Given the description of an element on the screen output the (x, y) to click on. 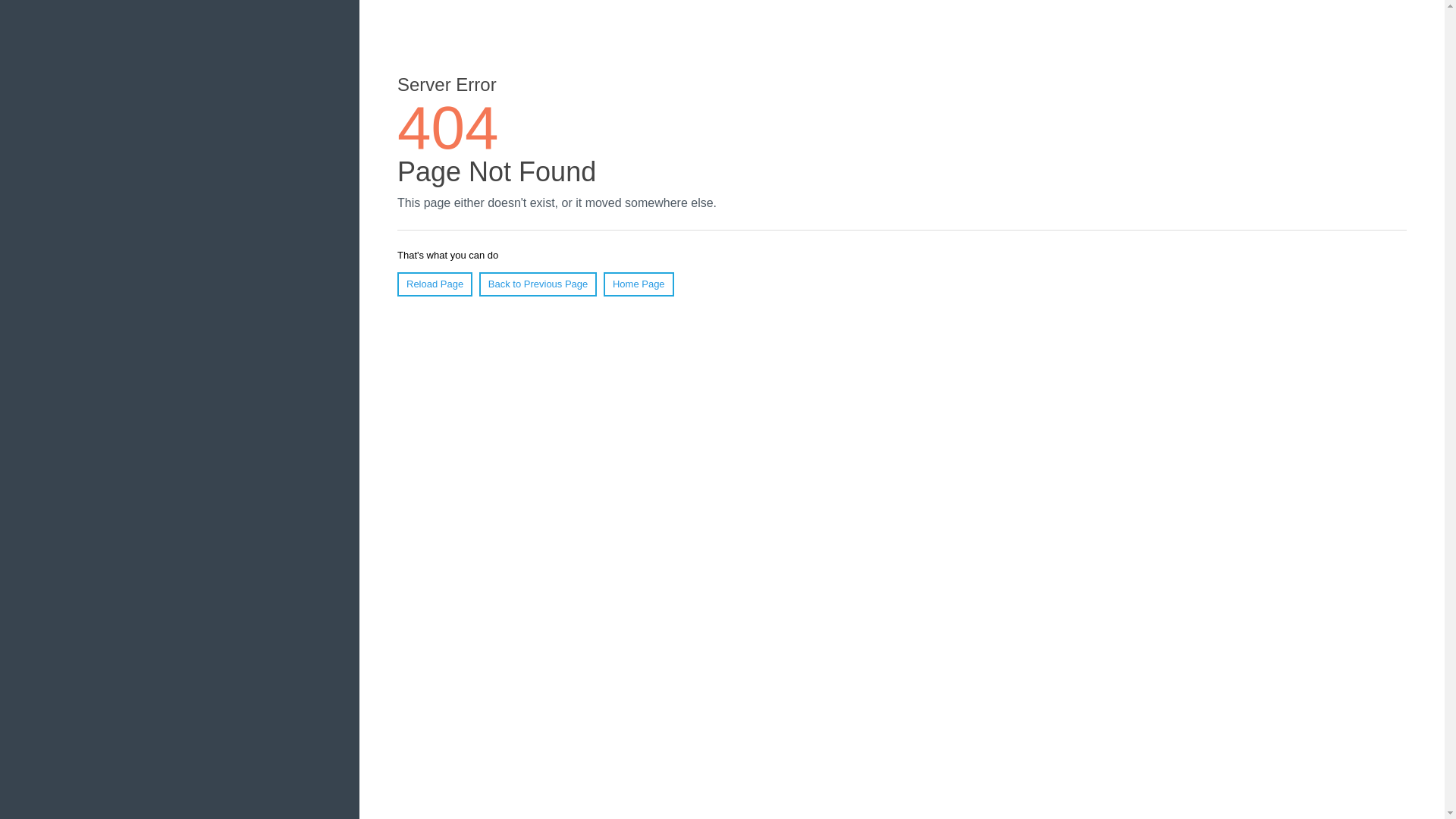
Back to Previous Page Element type: text (538, 284)
Reload Page Element type: text (434, 284)
Home Page Element type: text (638, 284)
